Given the description of an element on the screen output the (x, y) to click on. 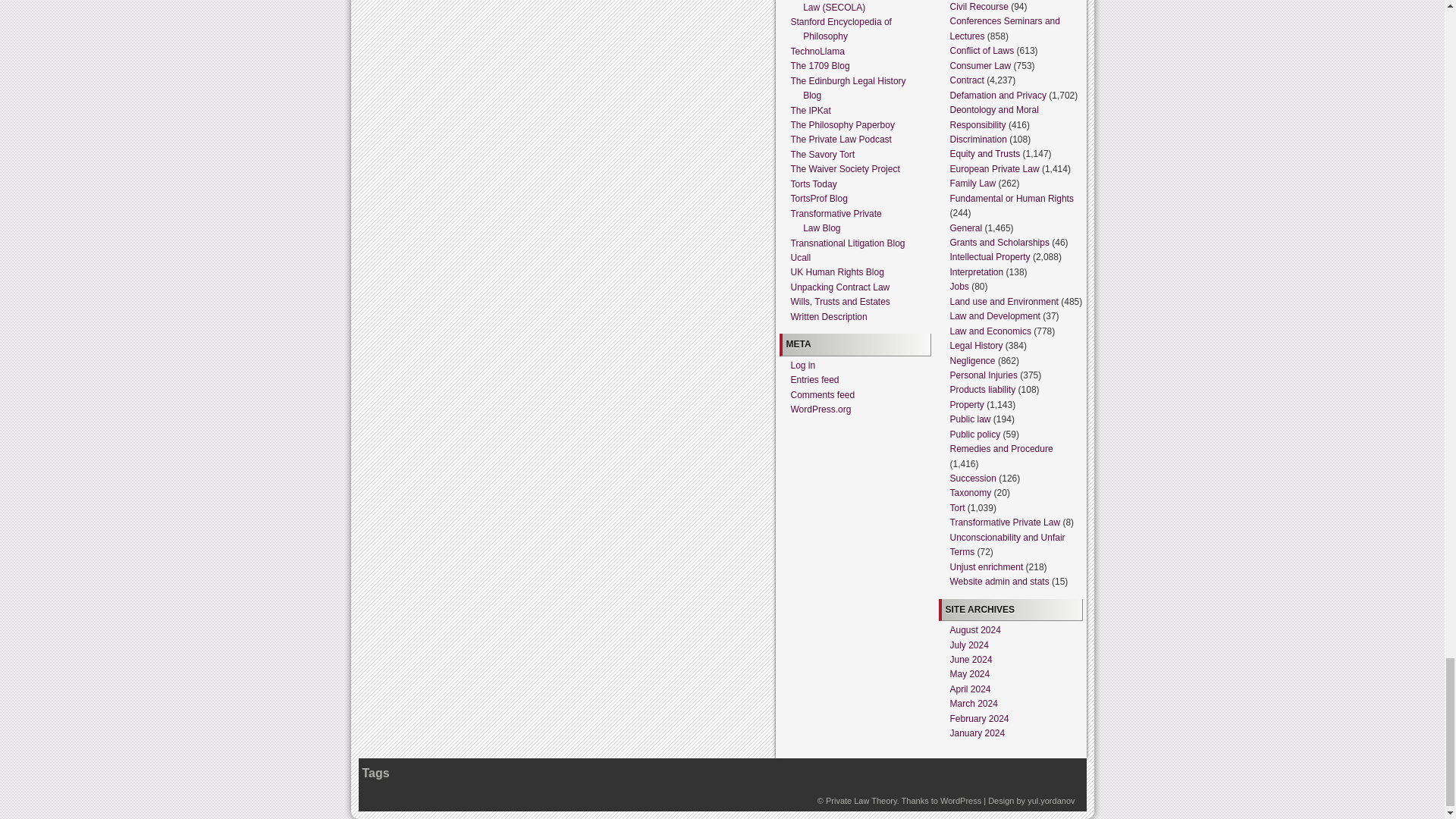
Obligations, Property, Legal Theory (860, 800)
